Given the description of an element on the screen output the (x, y) to click on. 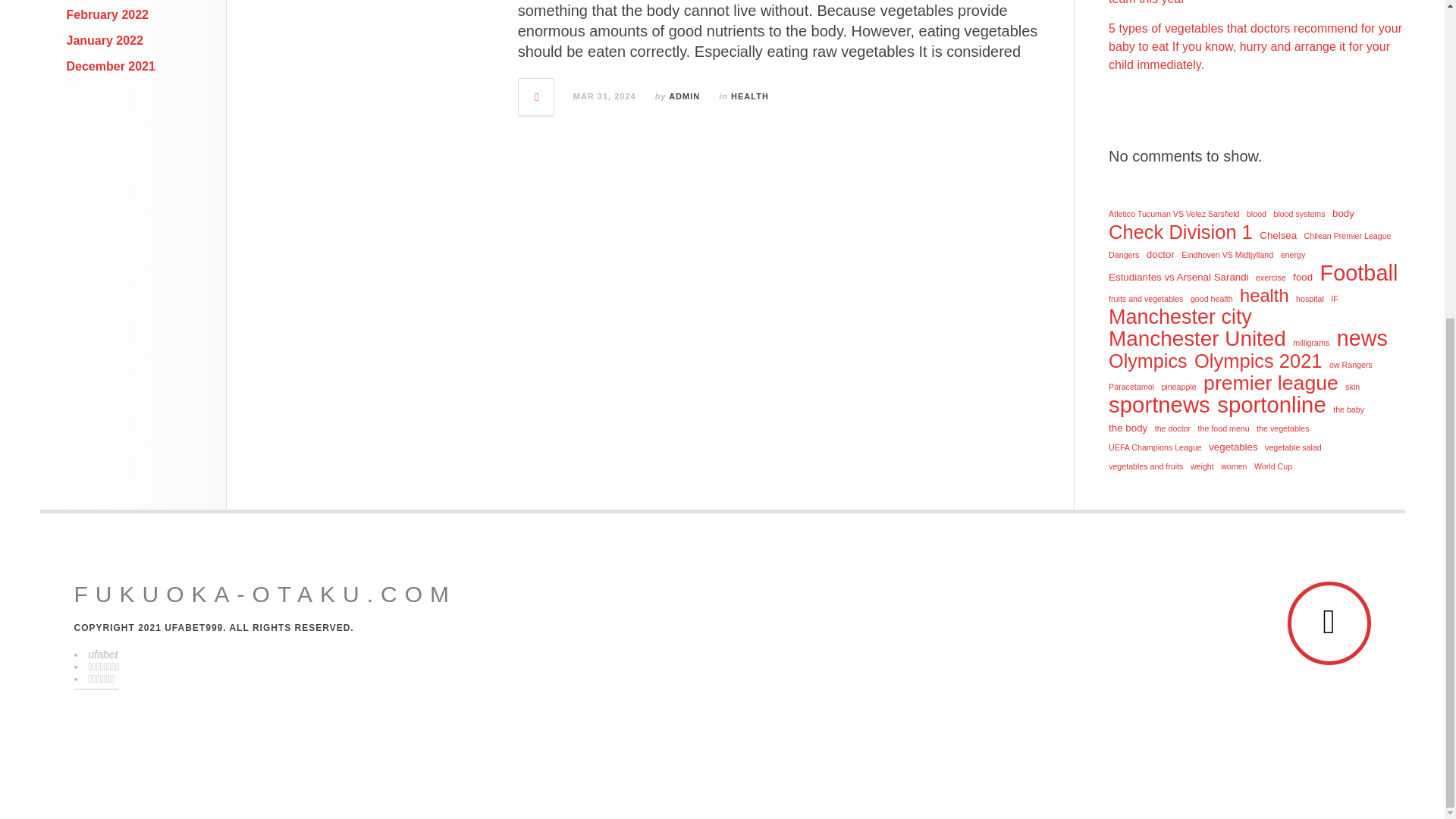
fukuoka-otaku.com (265, 594)
Check Division 1 (1180, 231)
January 2022 (104, 40)
Chilean Premier League (1347, 235)
blood systems (1298, 213)
Posts by admin (684, 95)
December 2021 (110, 65)
View all posts in Health (749, 95)
ADMIN (684, 95)
HEALTH (749, 95)
